Given the description of an element on the screen output the (x, y) to click on. 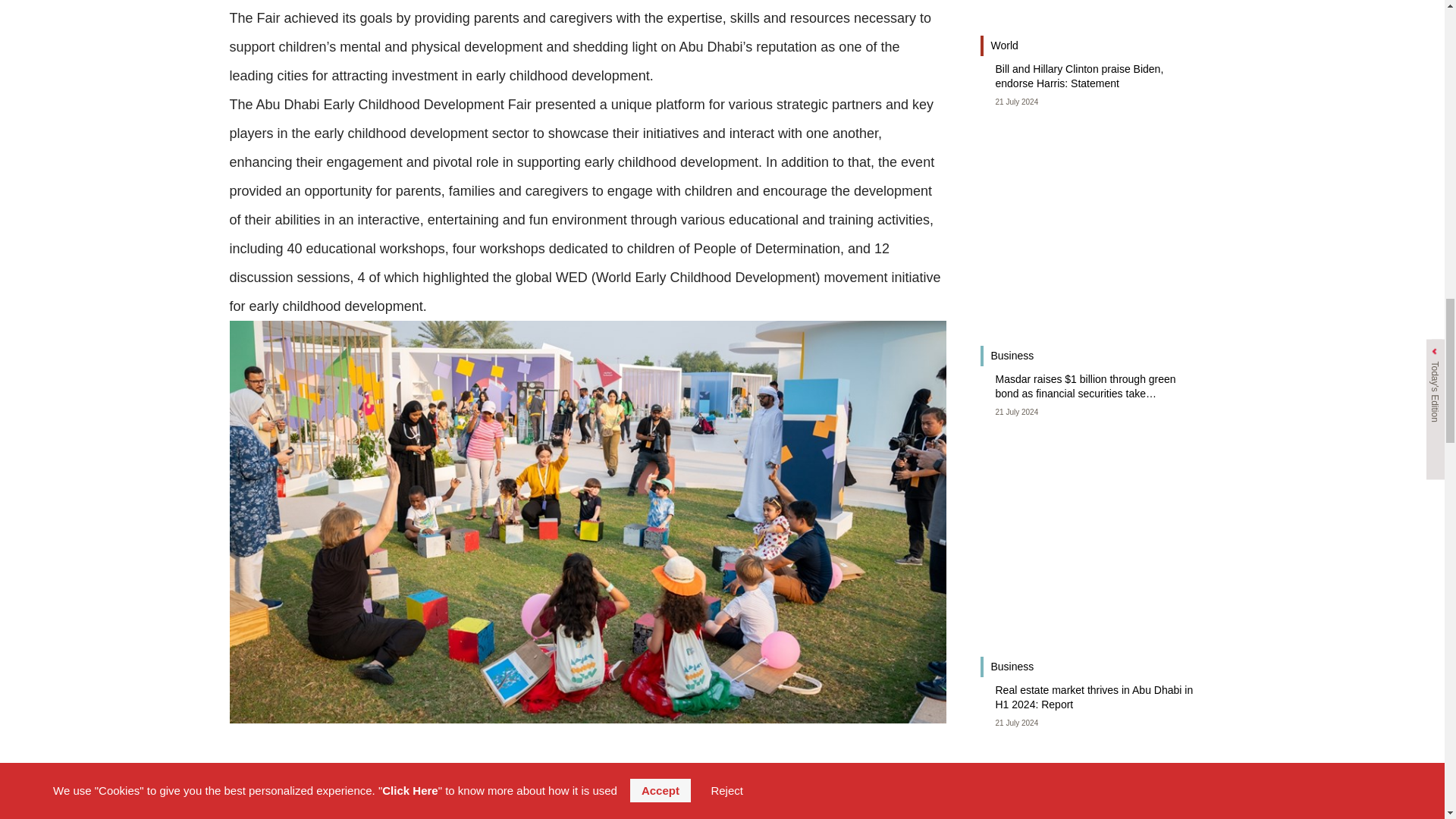
Real estate market thrives in Abu Dhabi in H1 2024: Report (1096, 697)
